Given the description of an element on the screen output the (x, y) to click on. 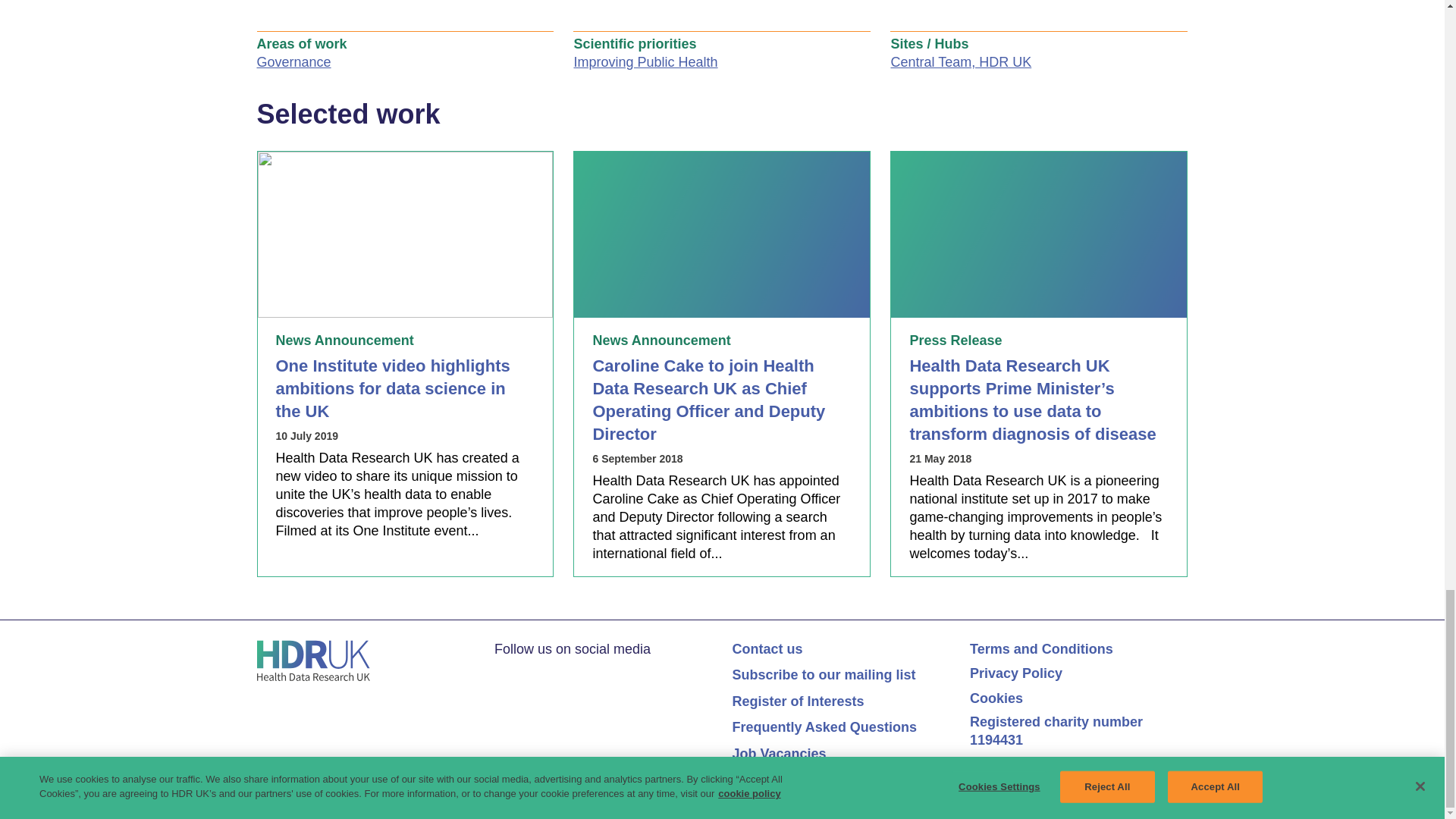
Twitter (503, 673)
LinkedIn (531, 673)
YouTube (561, 673)
